Given the description of an element on the screen output the (x, y) to click on. 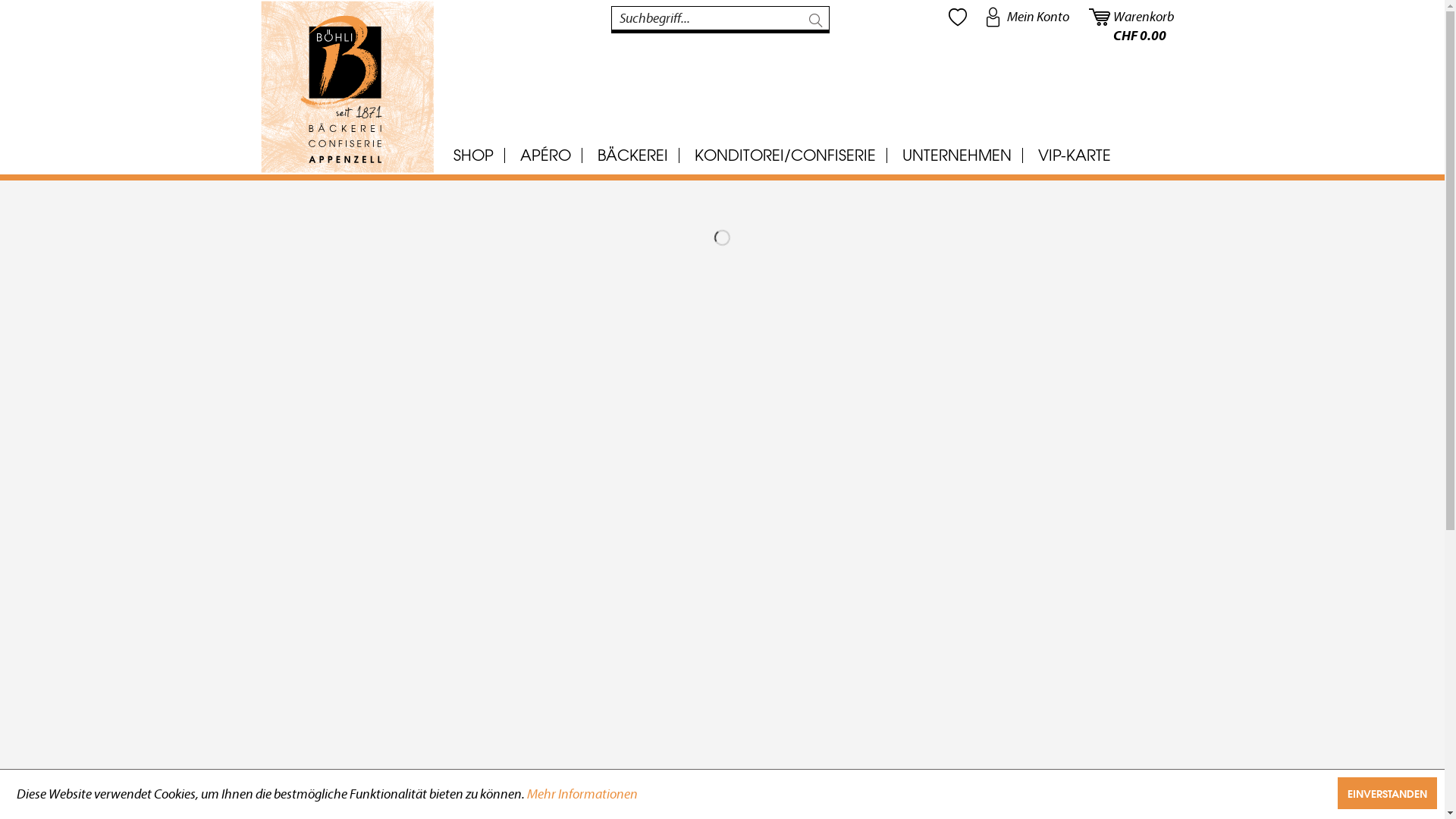
KONDITOREI/CONFISERIE Element type: text (784, 154)
EINVERSTANDEN Element type: text (1387, 793)
Mehr Informationen Element type: text (582, 794)
UNTERNEHMEN Element type: text (956, 154)
Merkzettel Element type: hover (956, 17)
Mein Konto Element type: text (1027, 17)
SHOP Element type: text (472, 154)
Warenkorb
CHF 0.00 Element type: text (1131, 17)
VIP-KARTE Element type: text (1074, 154)
